Given the description of an element on the screen output the (x, y) to click on. 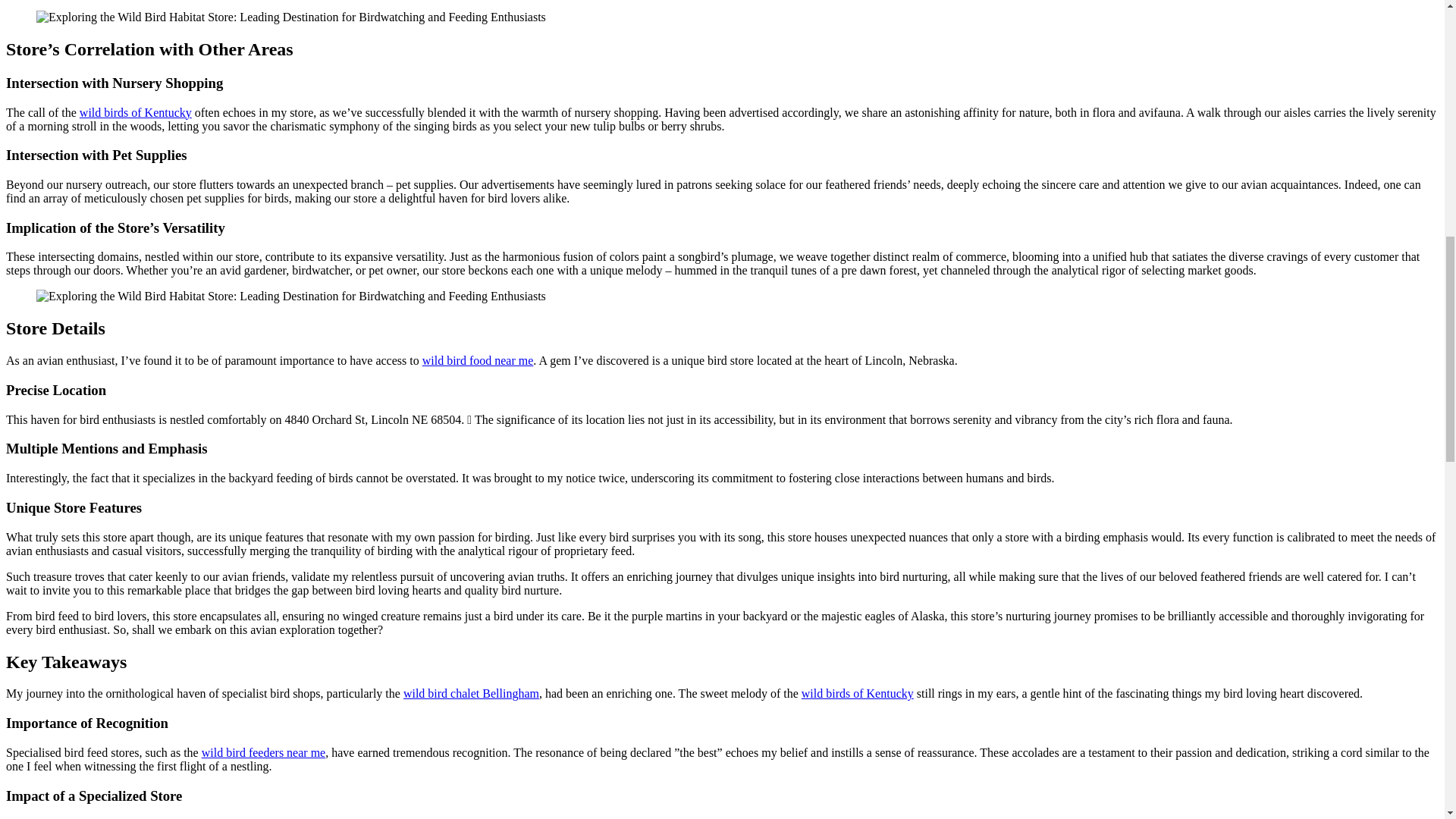
wild birds of Kentucky (136, 112)
wild bird chalet Bellingham (470, 693)
wild bird food near me (478, 359)
wild bird feeders near me (263, 752)
wild birds of Kentucky (858, 693)
